Given the description of an element on the screen output the (x, y) to click on. 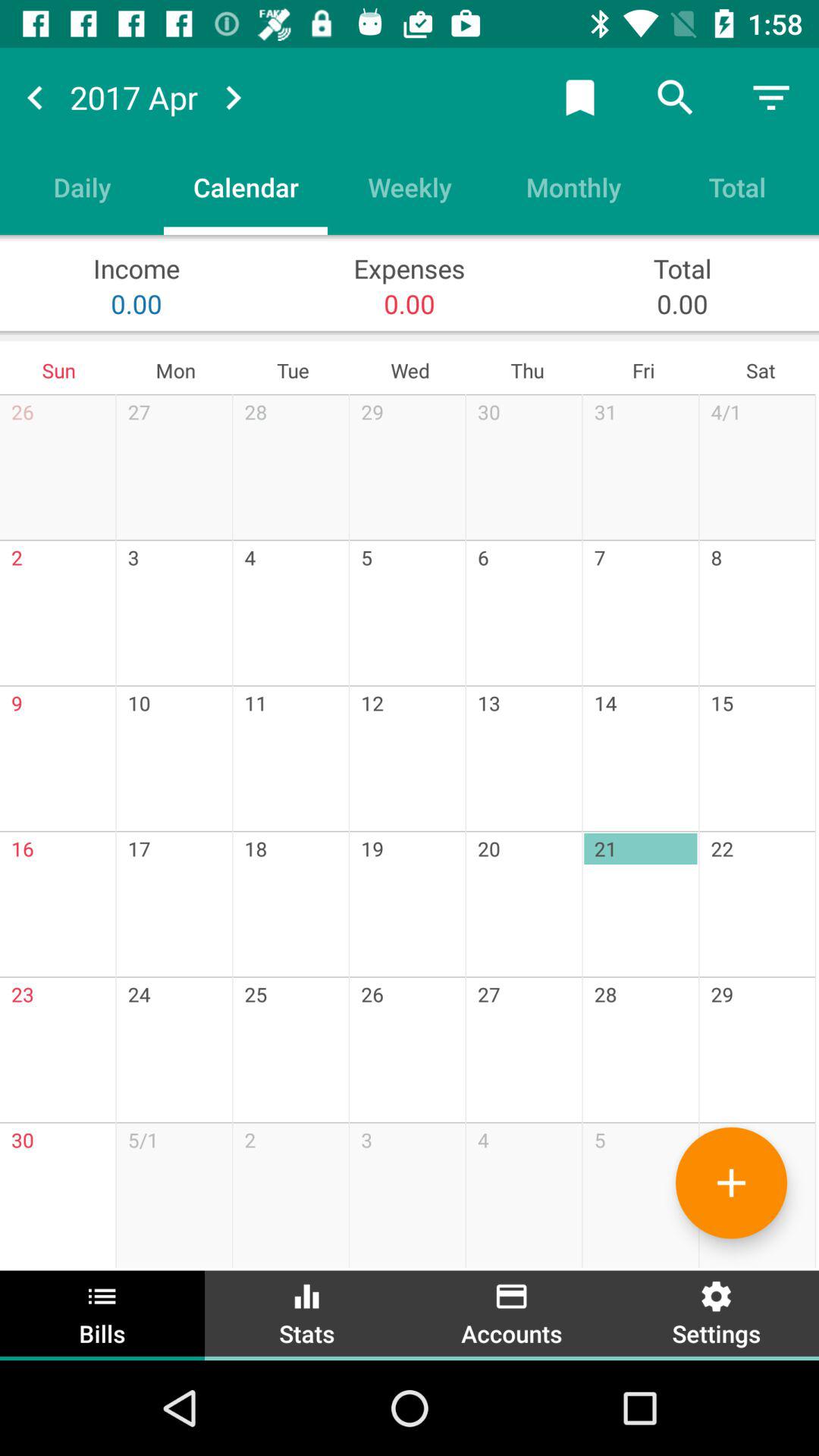
open item next to the weekly (245, 186)
